Given the description of an element on the screen output the (x, y) to click on. 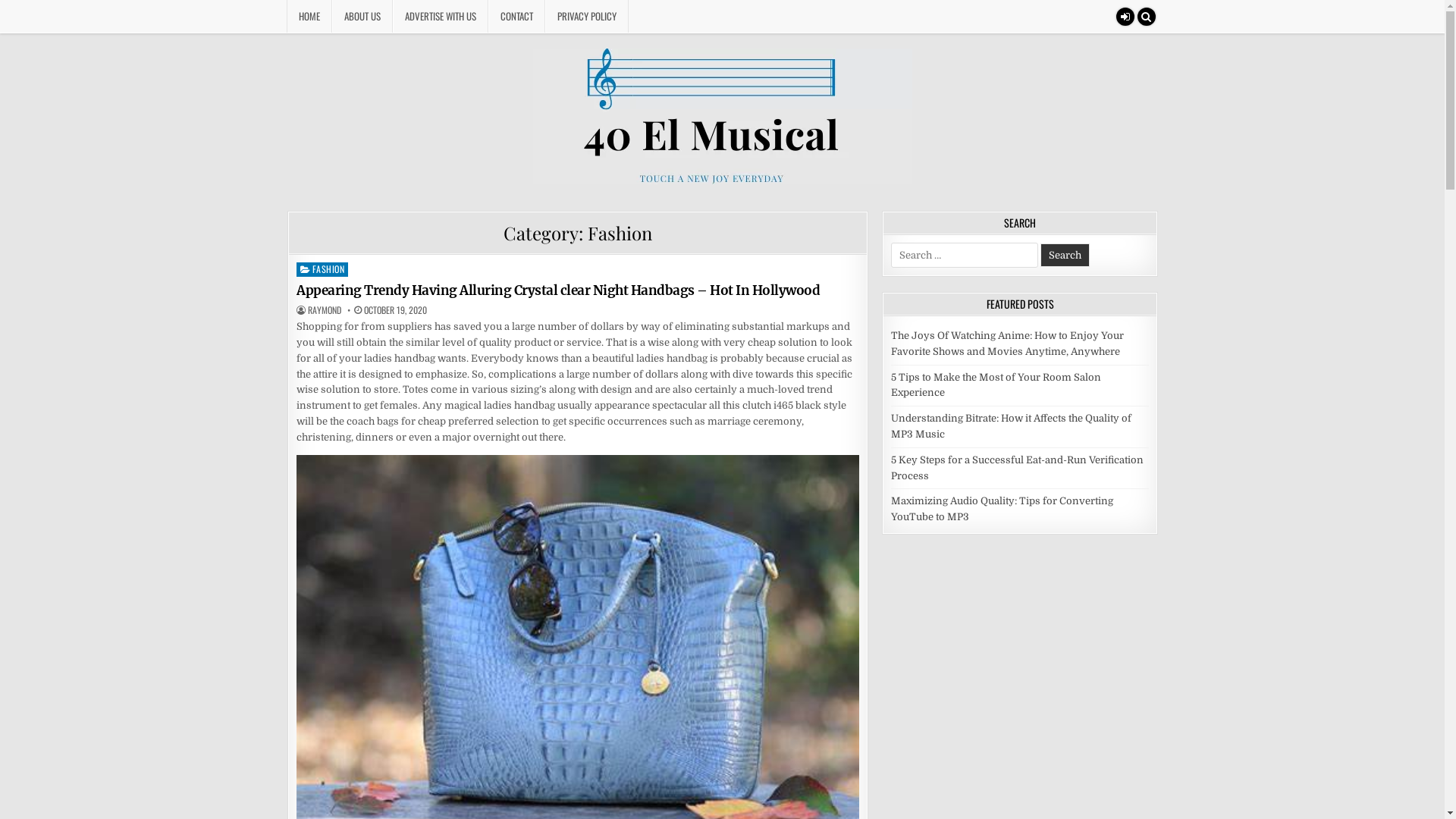
HOME Element type: text (309, 16)
PRIVACY POLICY Element type: text (585, 16)
Search Element type: text (1064, 254)
5 Tips to Make the Most of Your Room Salon Experience Element type: text (996, 384)
Login / Register Element type: hover (1125, 16)
Maximizing Audio Quality: Tips for Converting YouTube to MP3 Element type: text (1002, 508)
Search Element type: hover (1146, 16)
CONTACT Element type: text (516, 16)
AUTHOR:
RAYMOND Element type: text (324, 309)
ADVERTISE WITH US Element type: text (440, 16)
FASHION Element type: text (322, 269)
ABOUT US Element type: text (362, 16)
